Given the description of an element on the screen output the (x, y) to click on. 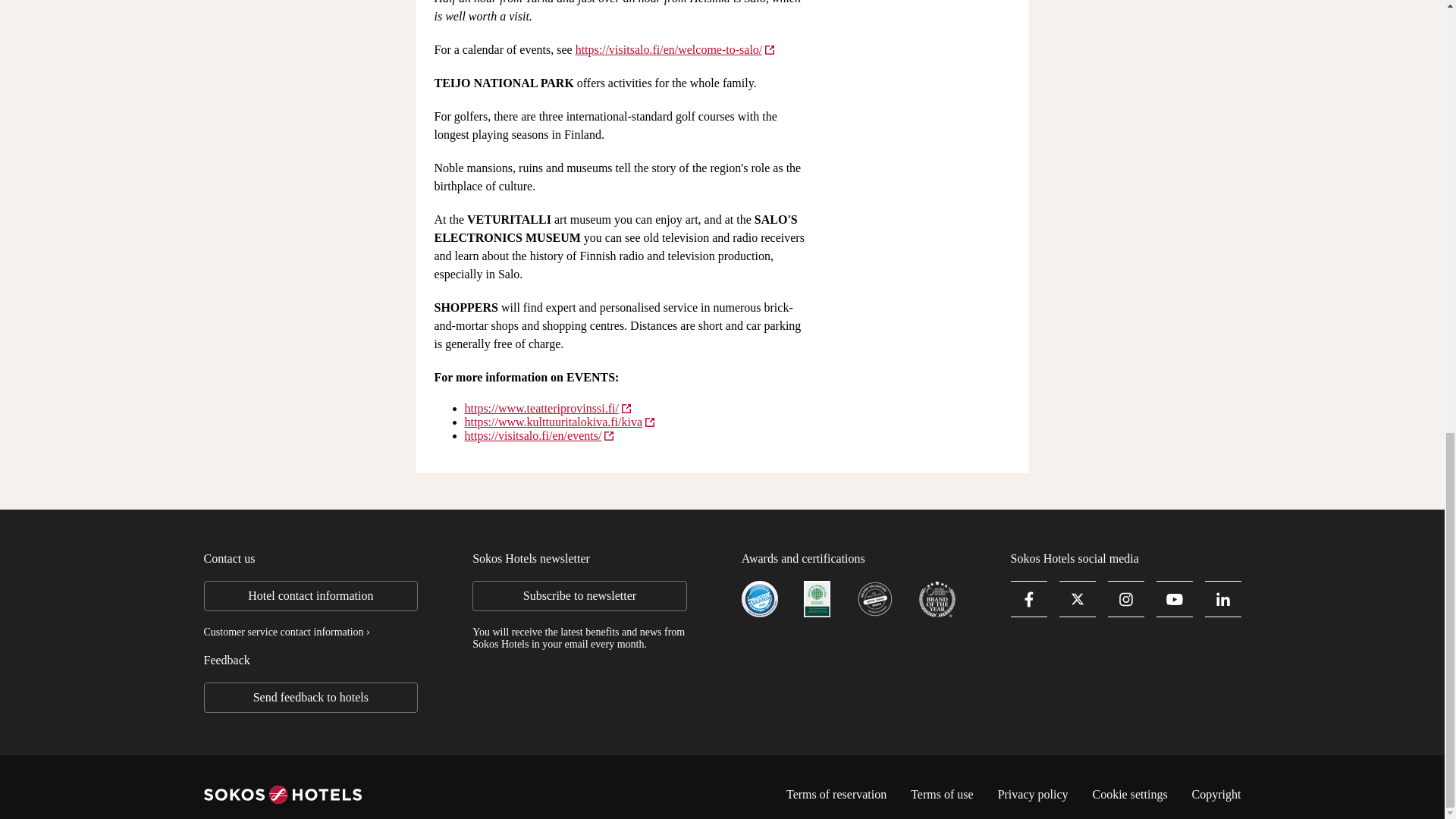
Terms of use (941, 794)
Sokos Hotels in Youtube (1174, 598)
Send feedback to hotels (310, 697)
Cookie settings (1129, 794)
Privacy policy (1032, 794)
Sokos Hotels in Linkedin (1223, 598)
Sokos Hotels in Twitter (1077, 598)
Terms of reservation (836, 794)
Sokos Hotels in Instagram (1126, 598)
Subscribe to newsletter (579, 595)
